Given the description of an element on the screen output the (x, y) to click on. 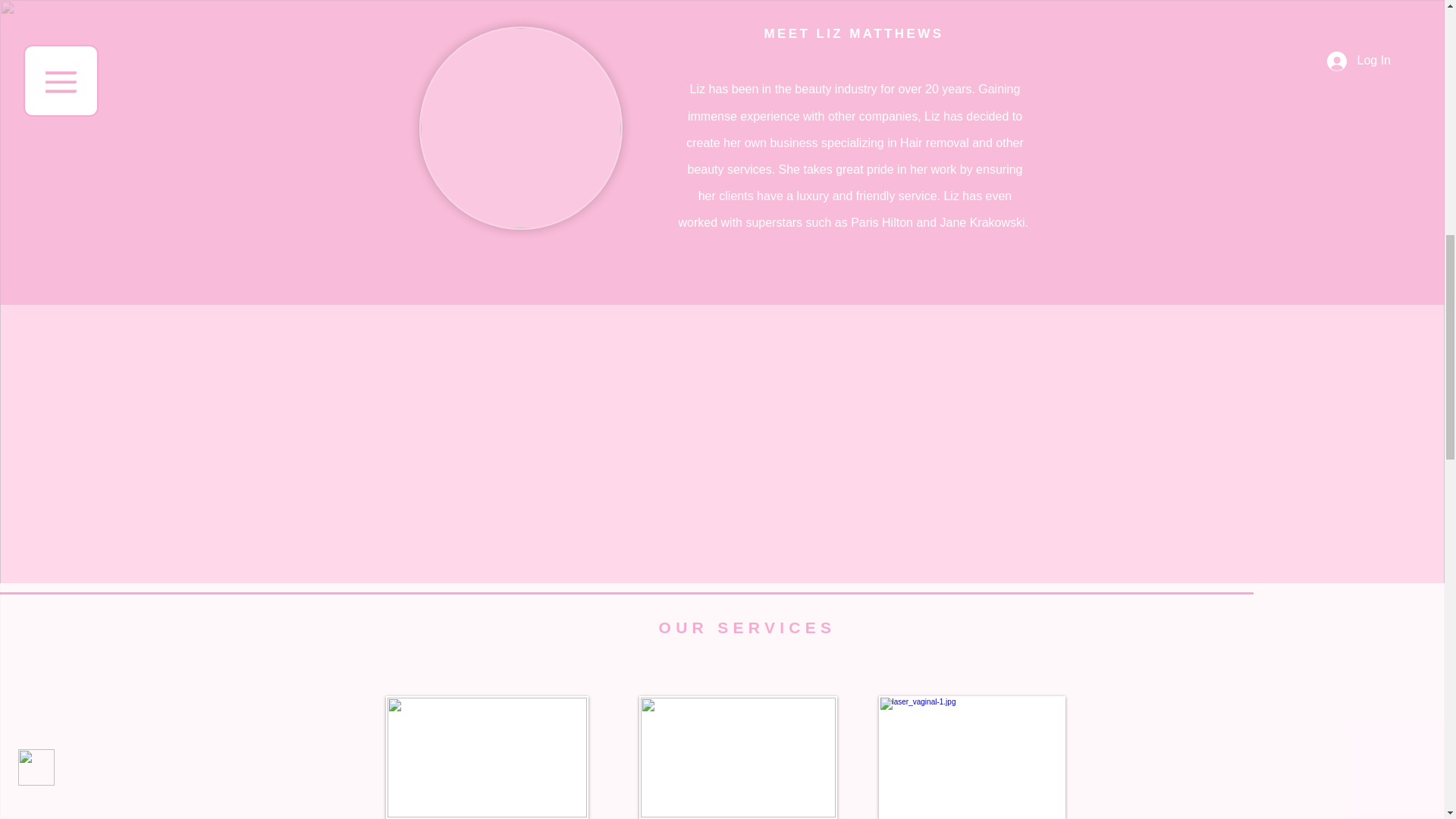
5d960c69-5fb9-4995-9a3a-fe4d7715886a.JPG (520, 128)
5dbe9f5430ee0e2496dd8516.jpeg (970, 757)
fill-in-eyebrows.jpg (737, 757)
how-to-use-hard-wax-on-legs.png (486, 757)
